Given the description of an element on the screen output the (x, y) to click on. 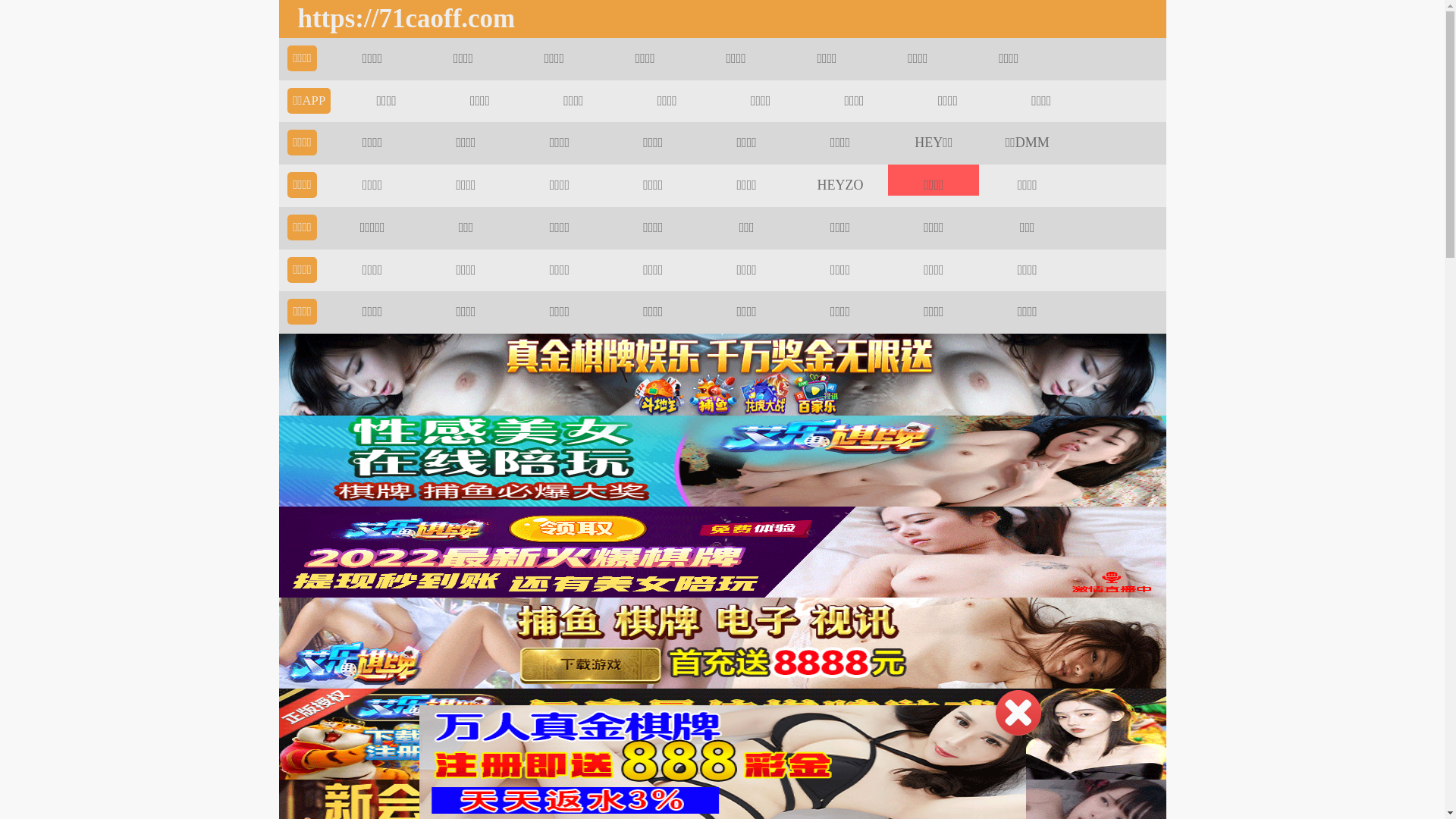
HEYZO Element type: text (840, 184)
https://71caoff.com Element type: text (401, 18)
